Given the description of an element on the screen output the (x, y) to click on. 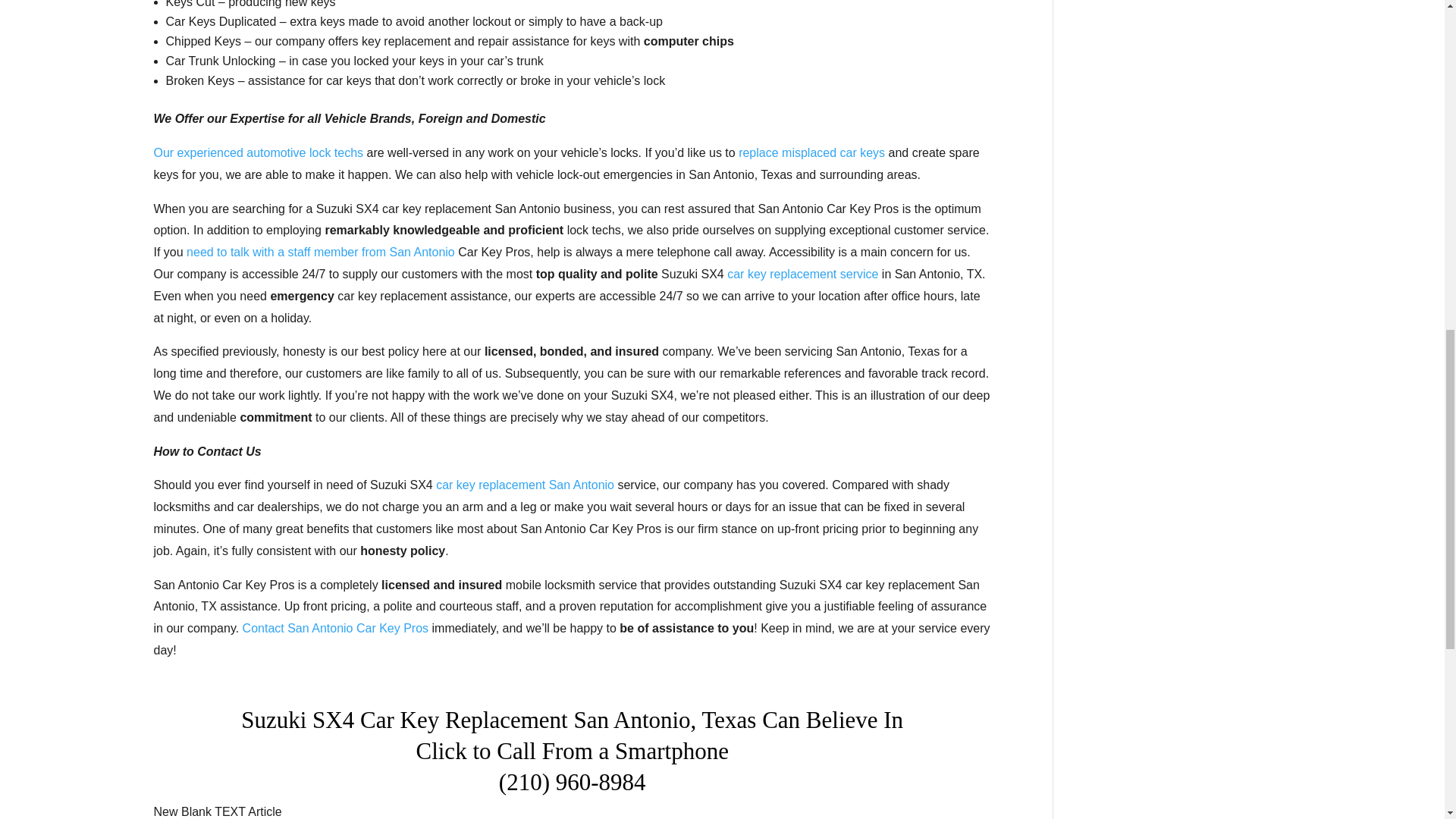
San Antonio, Texas Car Key Replacement Services (524, 484)
Get in touch with San Antonio Car Key Pros (335, 627)
About San Antonio Car Key Pros (257, 152)
